Given the description of an element on the screen output the (x, y) to click on. 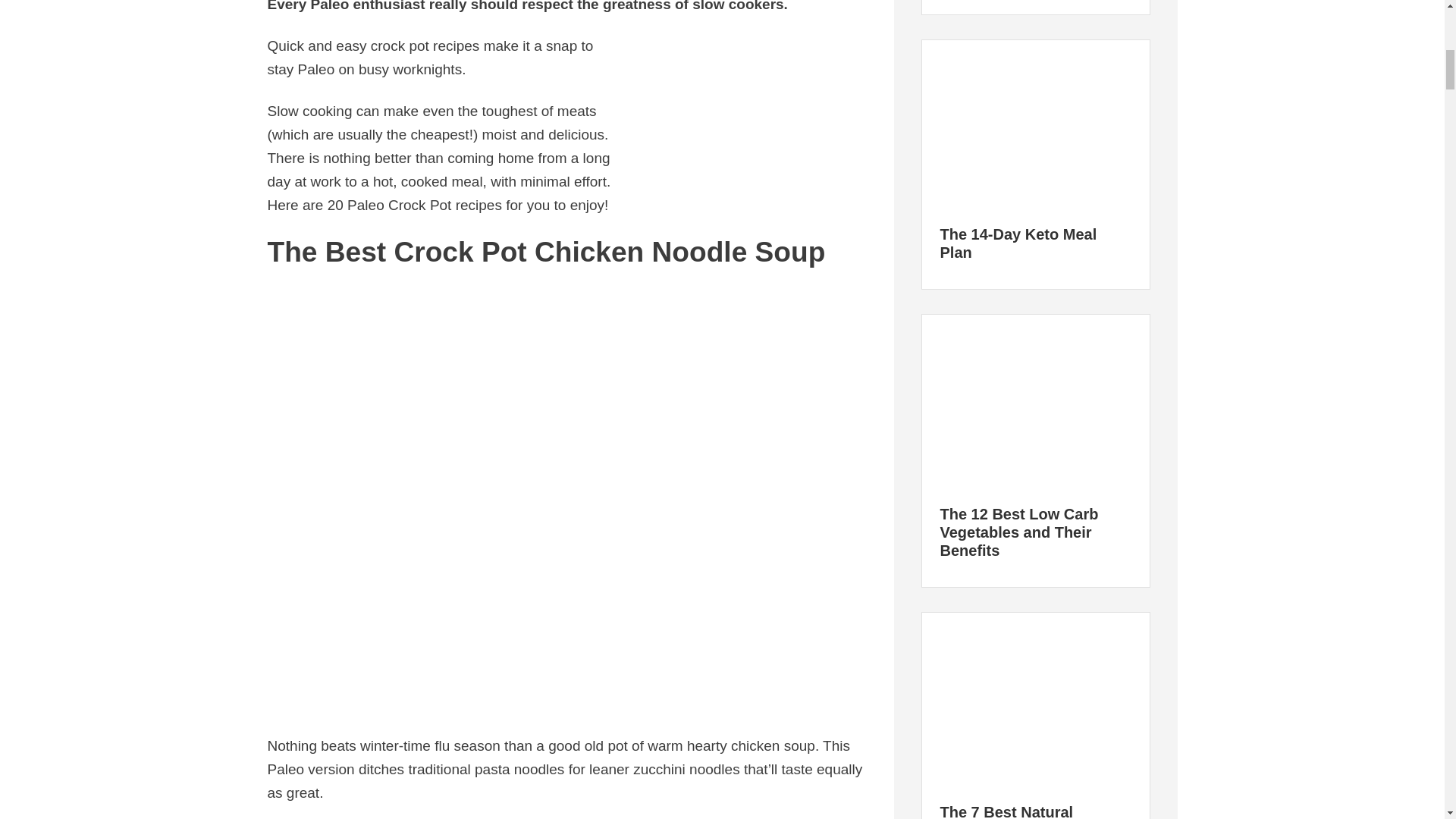
The 12 Best Low Carb Vegetables and Their Benefits (1035, 402)
The 7 Best Natural Substitutes for White Sugar (1016, 811)
The 14-Day Keto Meal Plan (1035, 125)
The 7 Best Natural Substitutes for White Sugar (1035, 700)
The 14-Day Keto Meal Plan (1018, 243)
The 12 Best Low Carb Vegetables and Their Benefits (1019, 532)
